Given the description of an element on the screen output the (x, y) to click on. 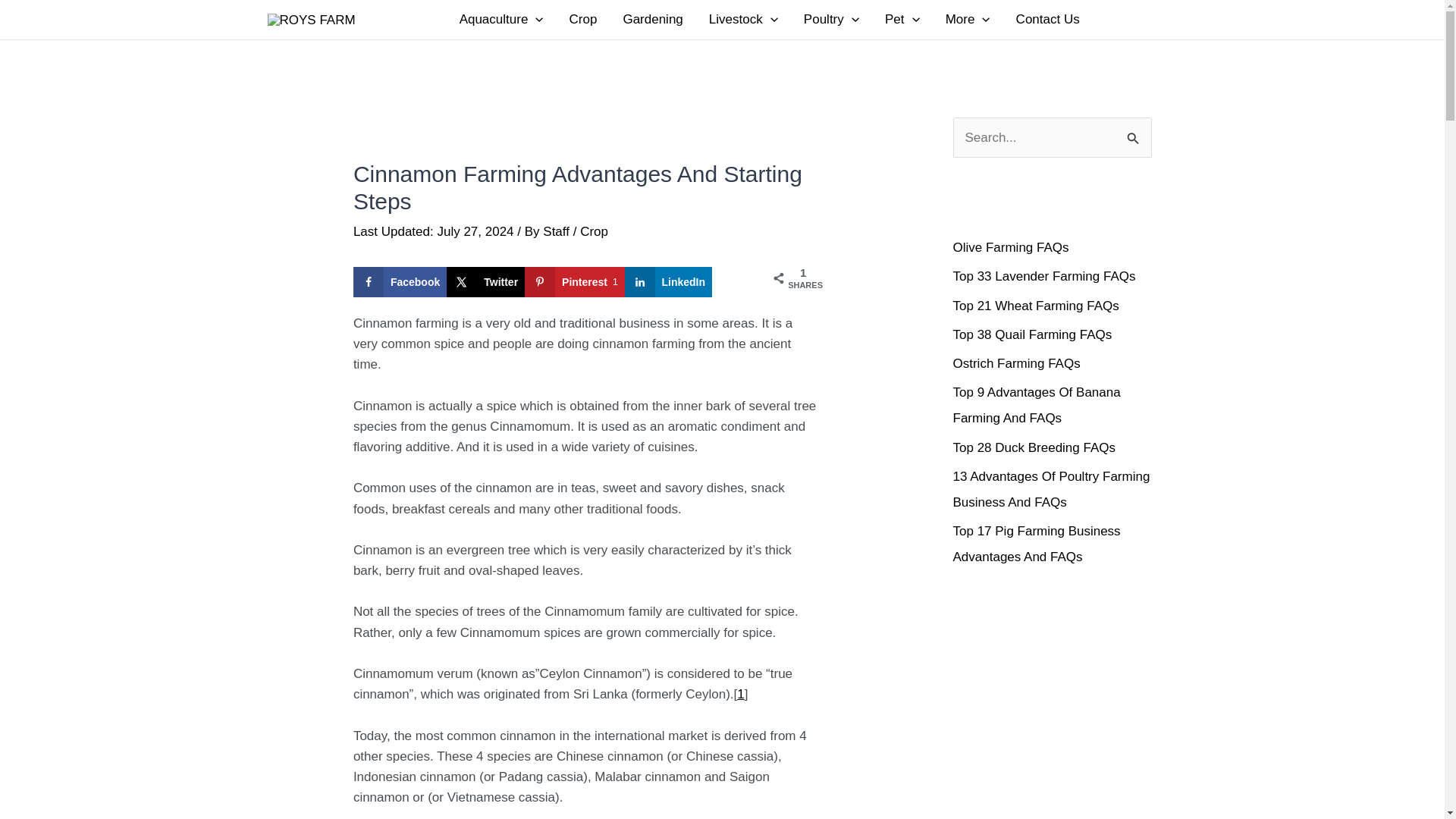
Search (1134, 133)
Crop (583, 19)
Pet (902, 19)
Aquaculture (501, 19)
Search (1134, 133)
Share on Facebook (399, 281)
More (968, 19)
View all posts by Staff (557, 231)
Share on LinkedIn (668, 281)
Livestock (742, 19)
Save to Pinterest (574, 281)
Poultry (831, 19)
Gardening (652, 19)
Share on X (485, 281)
